Given the description of an element on the screen output the (x, y) to click on. 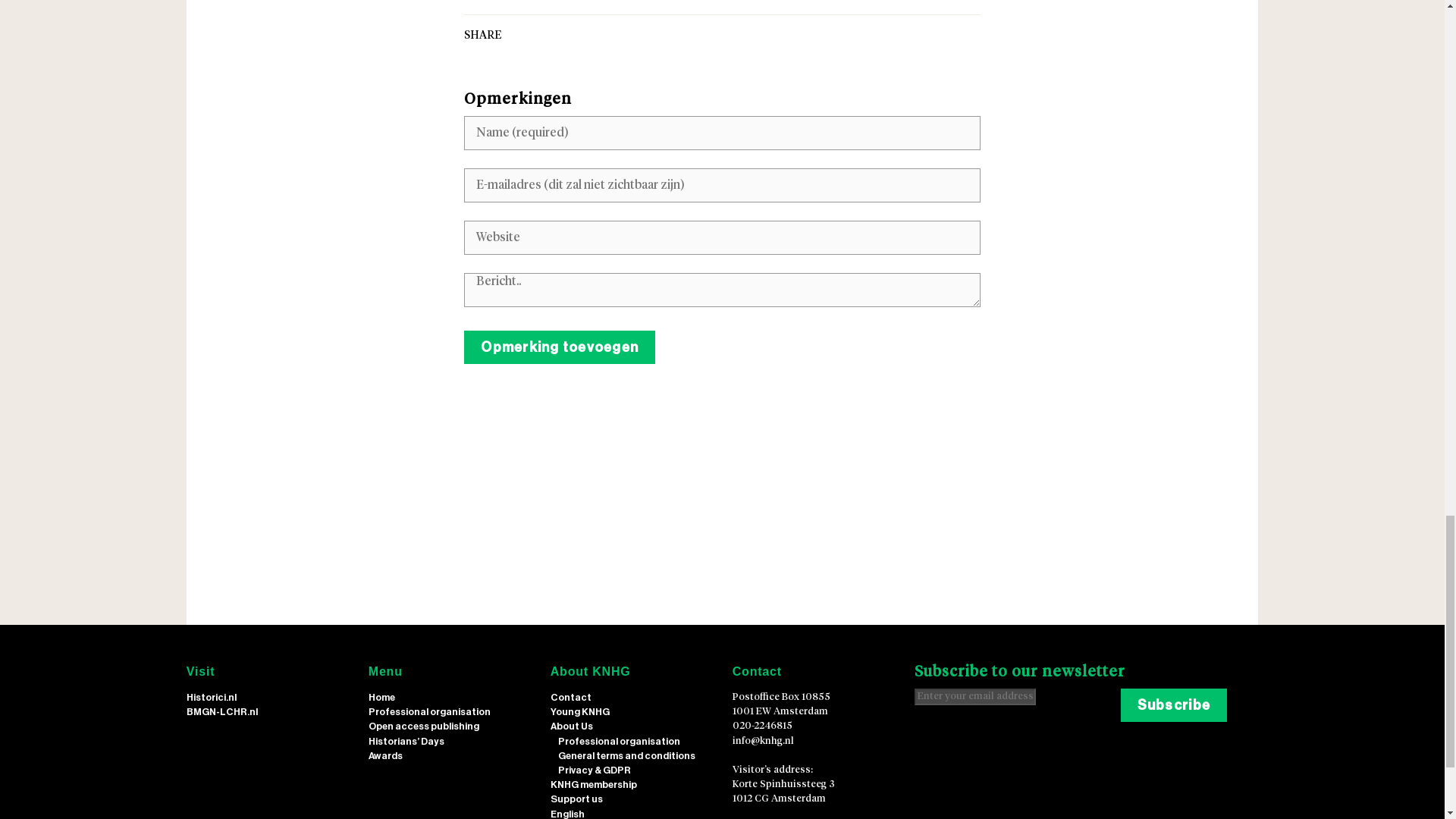
Contact (570, 697)
Home (381, 697)
About Us (571, 726)
Professional organisation (429, 711)
Opmerking toevoegen (559, 346)
Subscribe (1174, 704)
Historici.nl (210, 697)
Young KNHG (580, 711)
Awards (385, 755)
BMGN-LCHR.nl (221, 711)
